Given the description of an element on the screen output the (x, y) to click on. 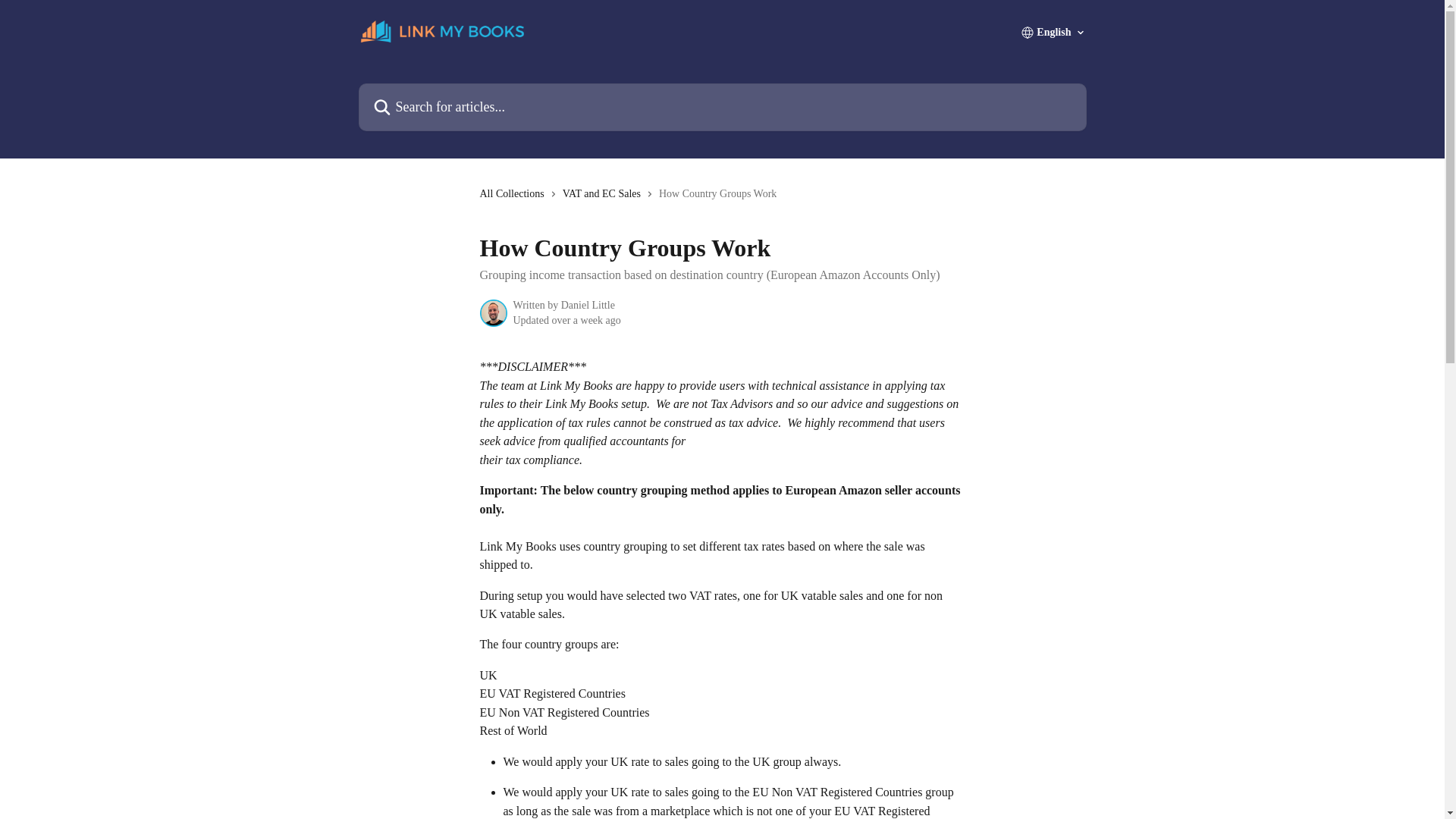
VAT and EC Sales (604, 193)
All Collections (514, 193)
